Given the description of an element on the screen output the (x, y) to click on. 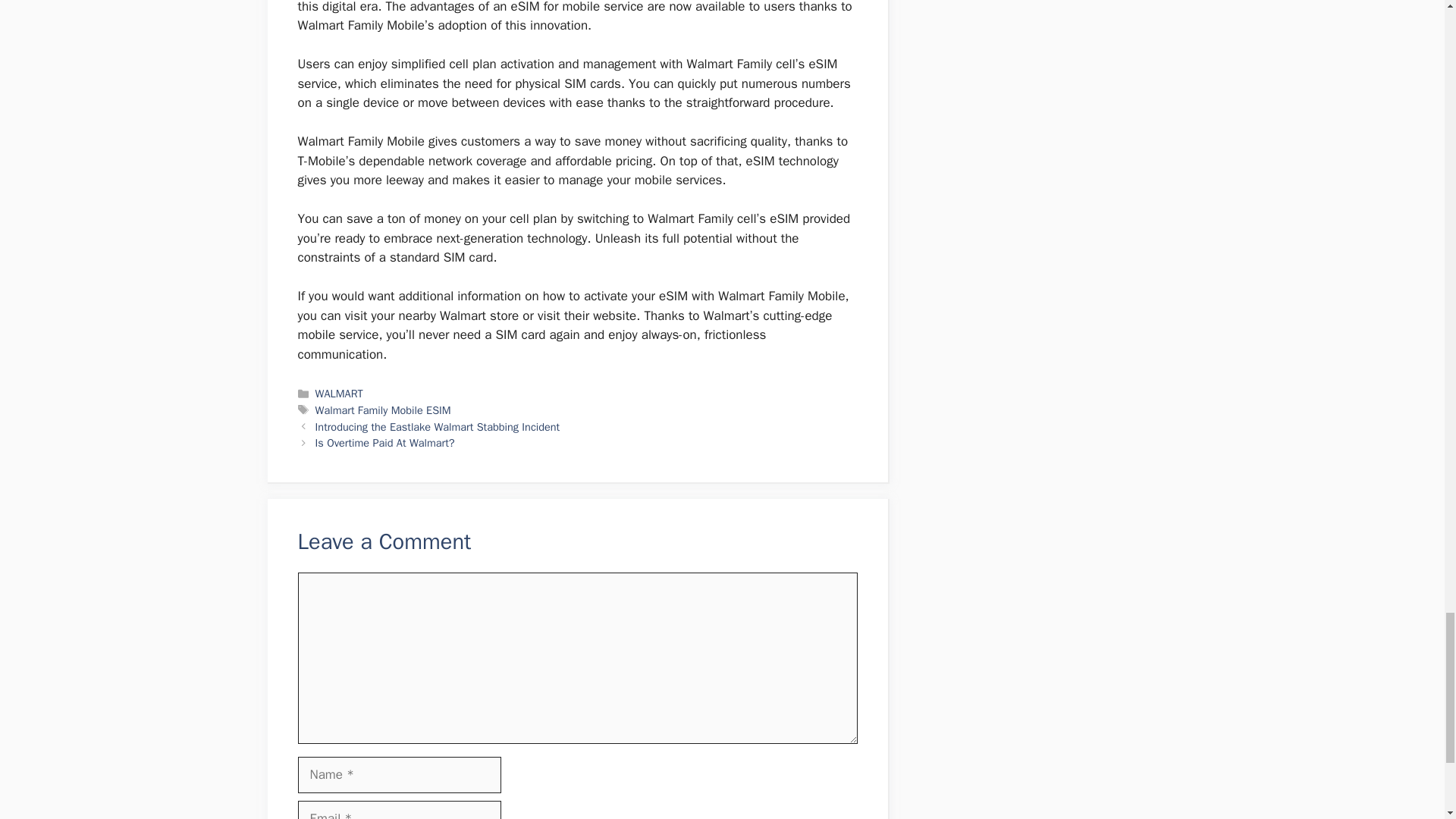
WALMART (338, 393)
Walmart Family Mobile ESIM (383, 409)
Introducing the Eastlake Walmart Stabbing Incident (437, 427)
Is Overtime Paid At Walmart? (384, 442)
